Given the description of an element on the screen output the (x, y) to click on. 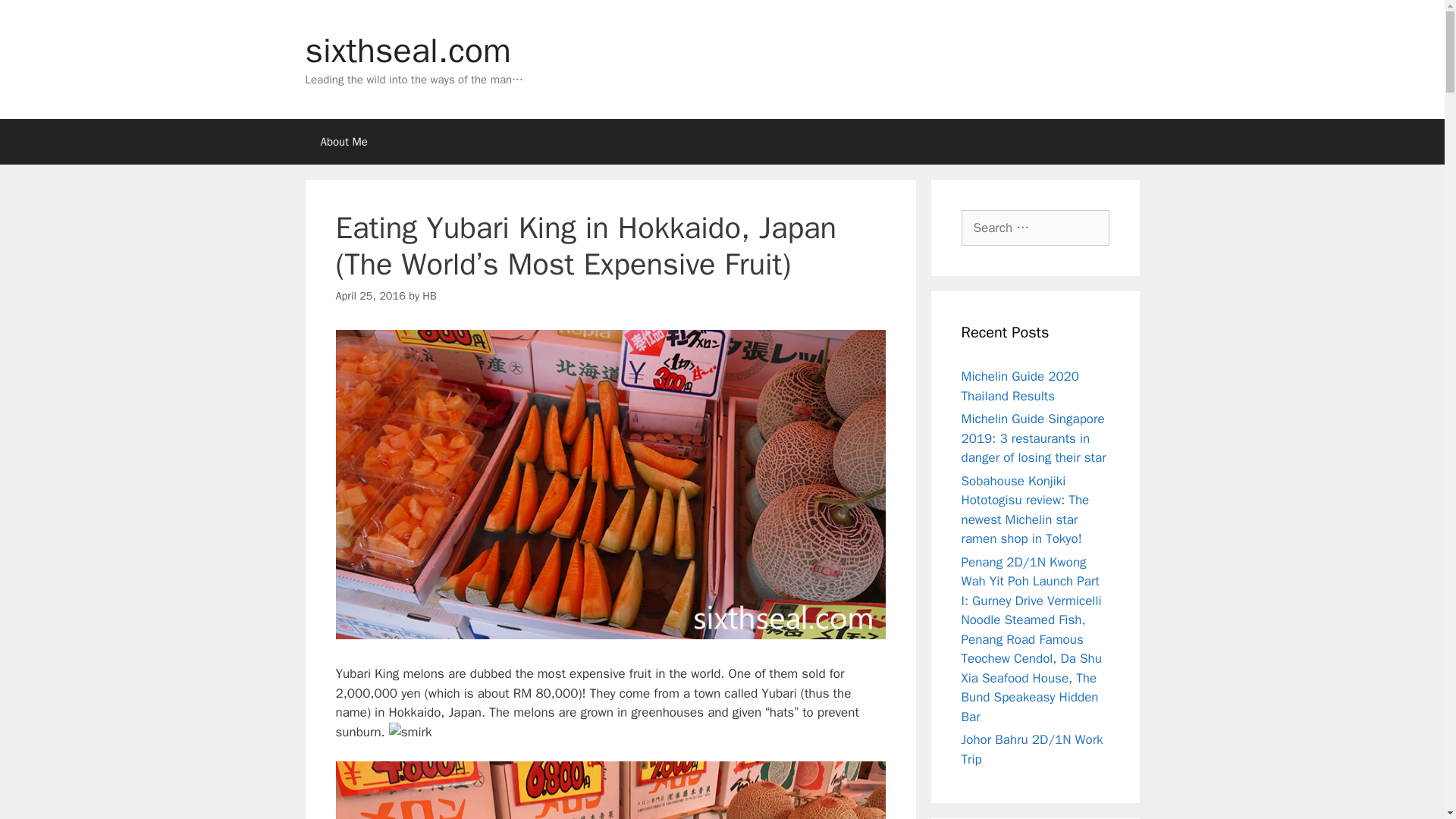
HB (428, 295)
April 25, 2016 (369, 295)
smirk (410, 732)
sixthseal.com (407, 50)
Yubari King Melon (609, 790)
9:40 am (369, 295)
About Me (342, 140)
Search for: (1034, 227)
View all posts by HB (428, 295)
